Given the description of an element on the screen output the (x, y) to click on. 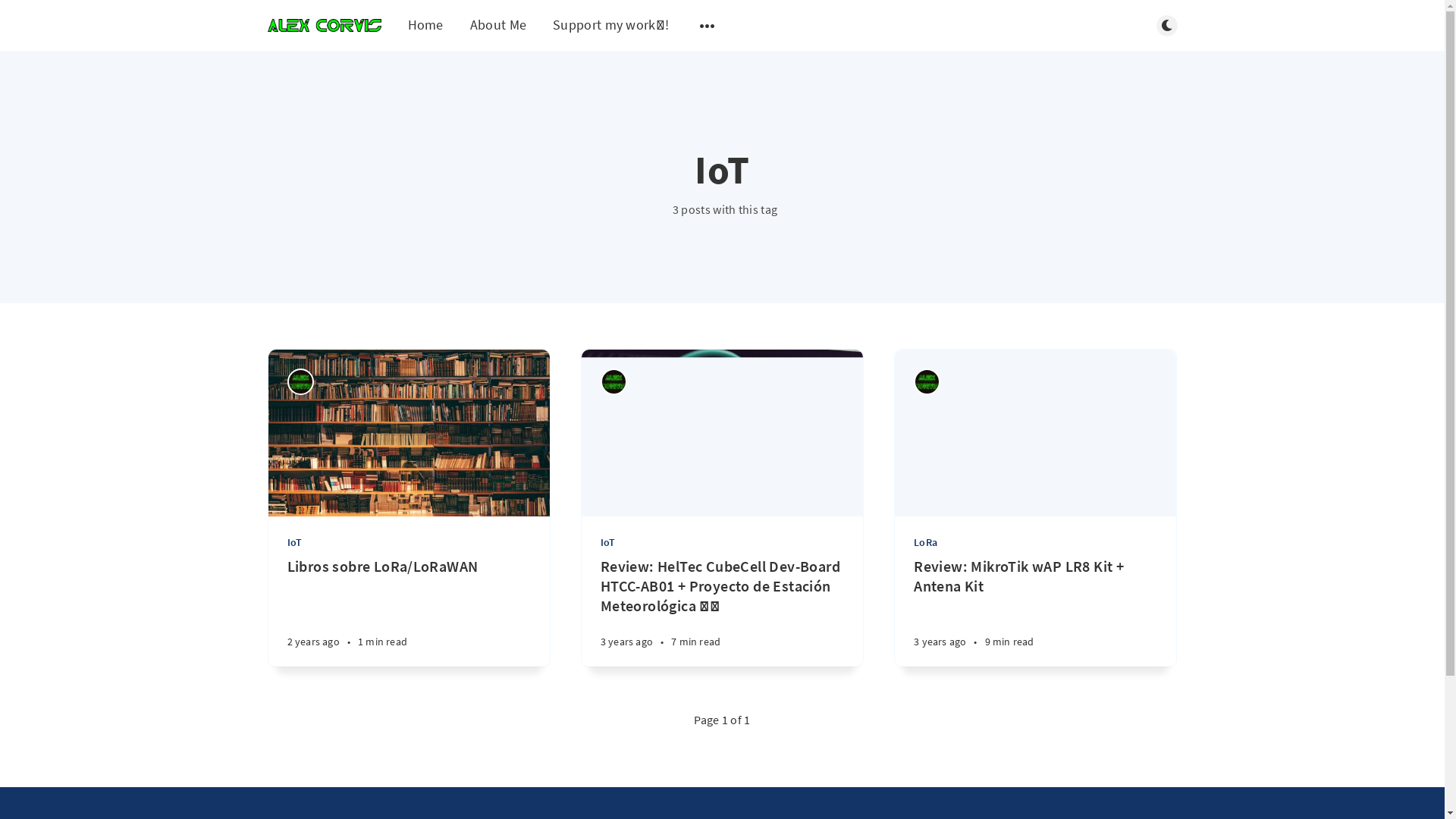
IoT Element type: text (409, 542)
Home Element type: text (425, 24)
About Me Element type: text (498, 24)
IoT Element type: text (723, 542)
LoRa Element type: text (1037, 542)
